Given the description of an element on the screen output the (x, y) to click on. 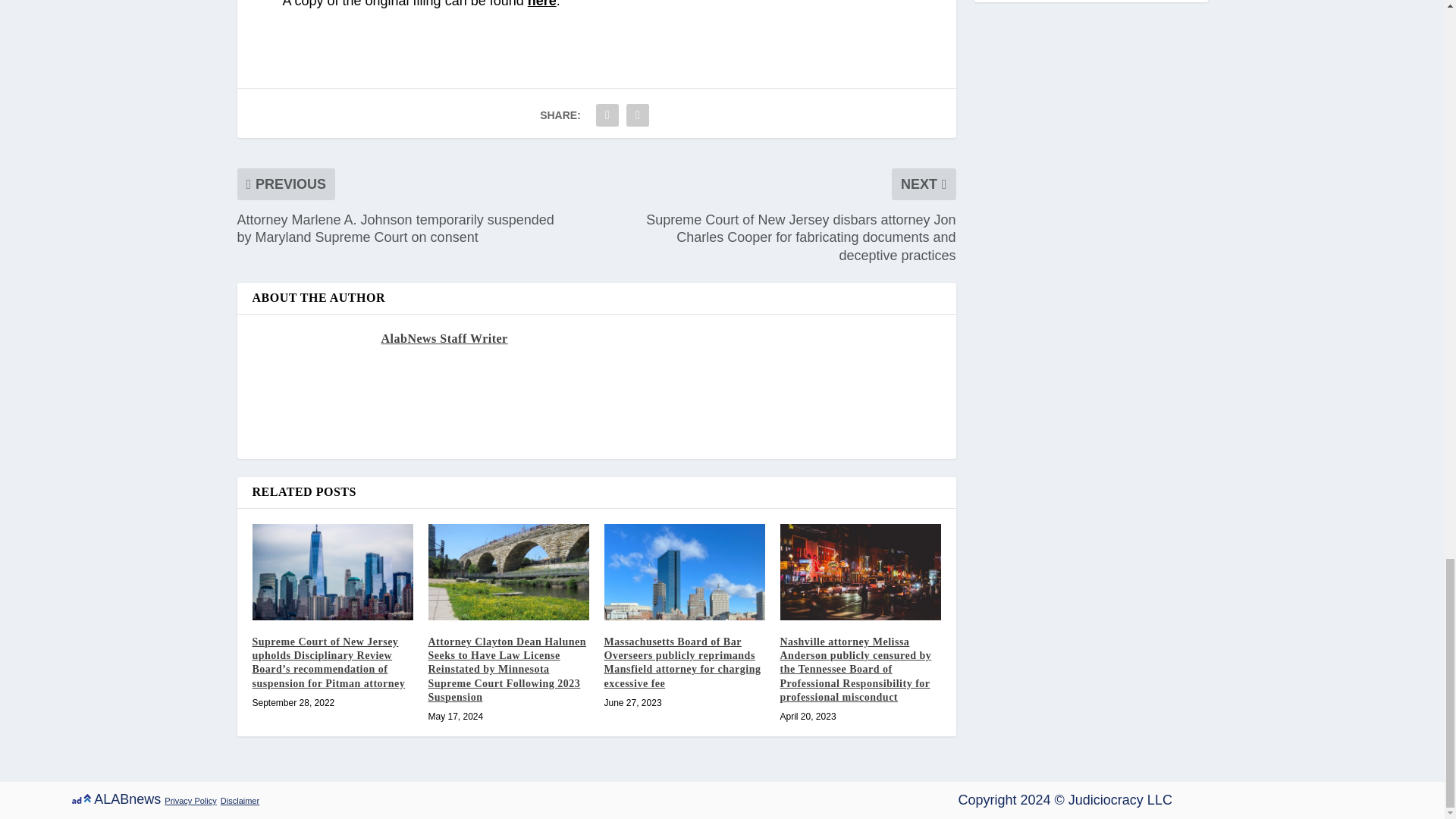
View all posts by AlabNews Staff Writer (443, 338)
here (541, 4)
AlabNews Staff Writer (443, 338)
